Given the description of an element on the screen output the (x, y) to click on. 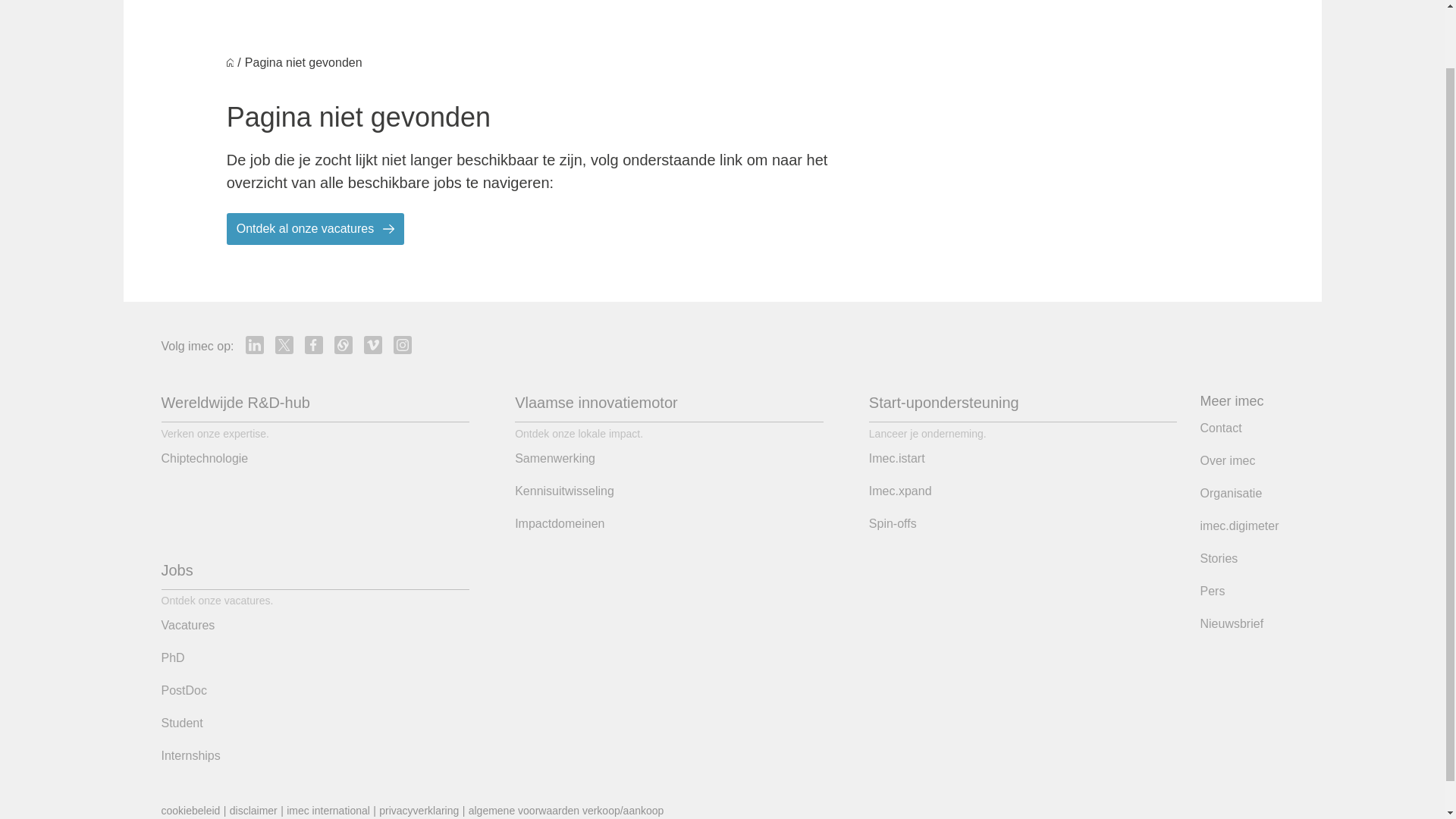
Start-upondersteuning (944, 402)
Facebook (313, 344)
Internships (189, 755)
Vimeo (372, 344)
Spin-offs (893, 524)
PhD (172, 658)
Home (230, 62)
Swivle (343, 344)
Ontdek al onze vacatures (315, 228)
LinkedIn (254, 344)
